Given the description of an element on the screen output the (x, y) to click on. 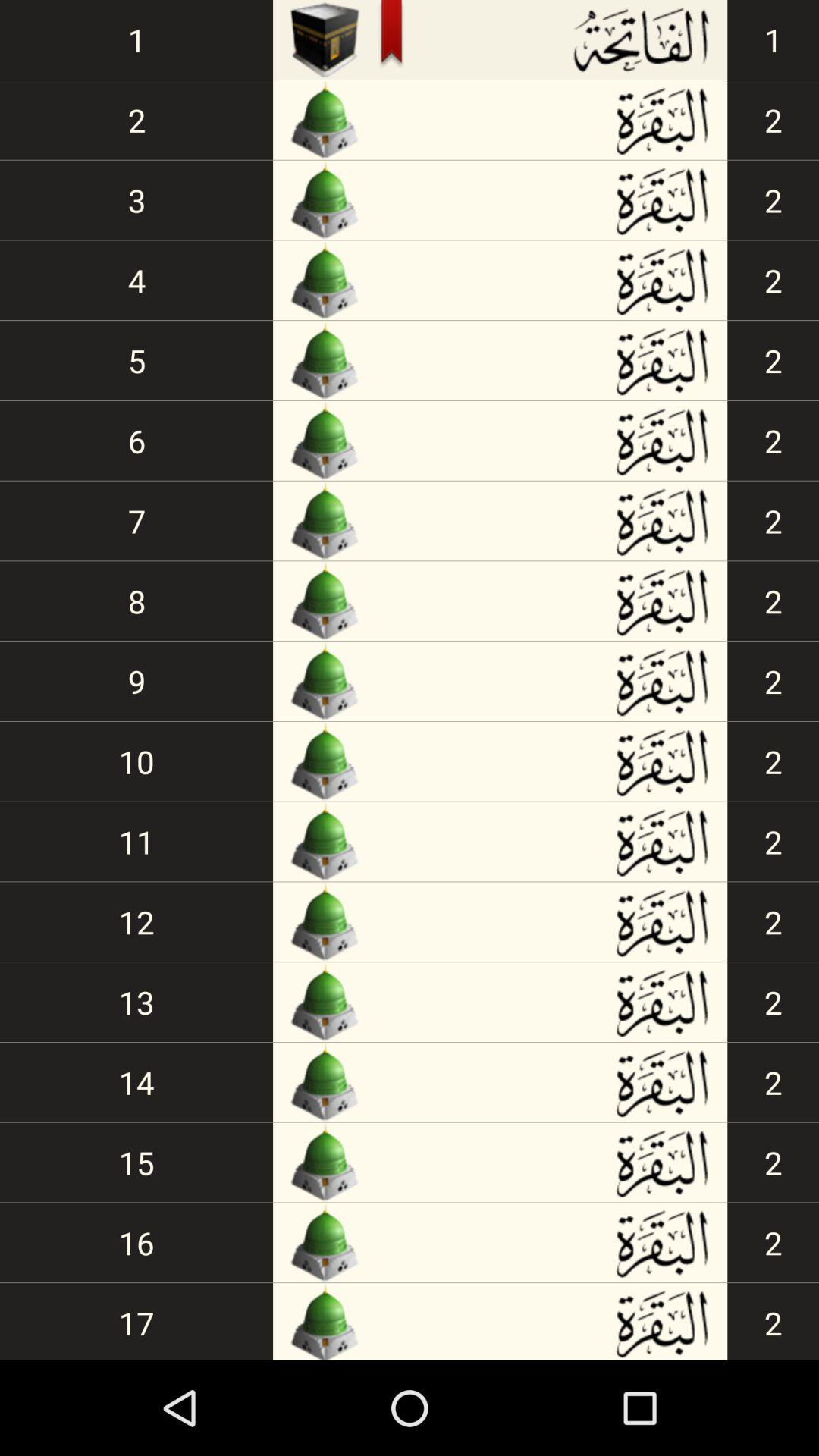
turn on the 16 icon (136, 1242)
